Given the description of an element on the screen output the (x, y) to click on. 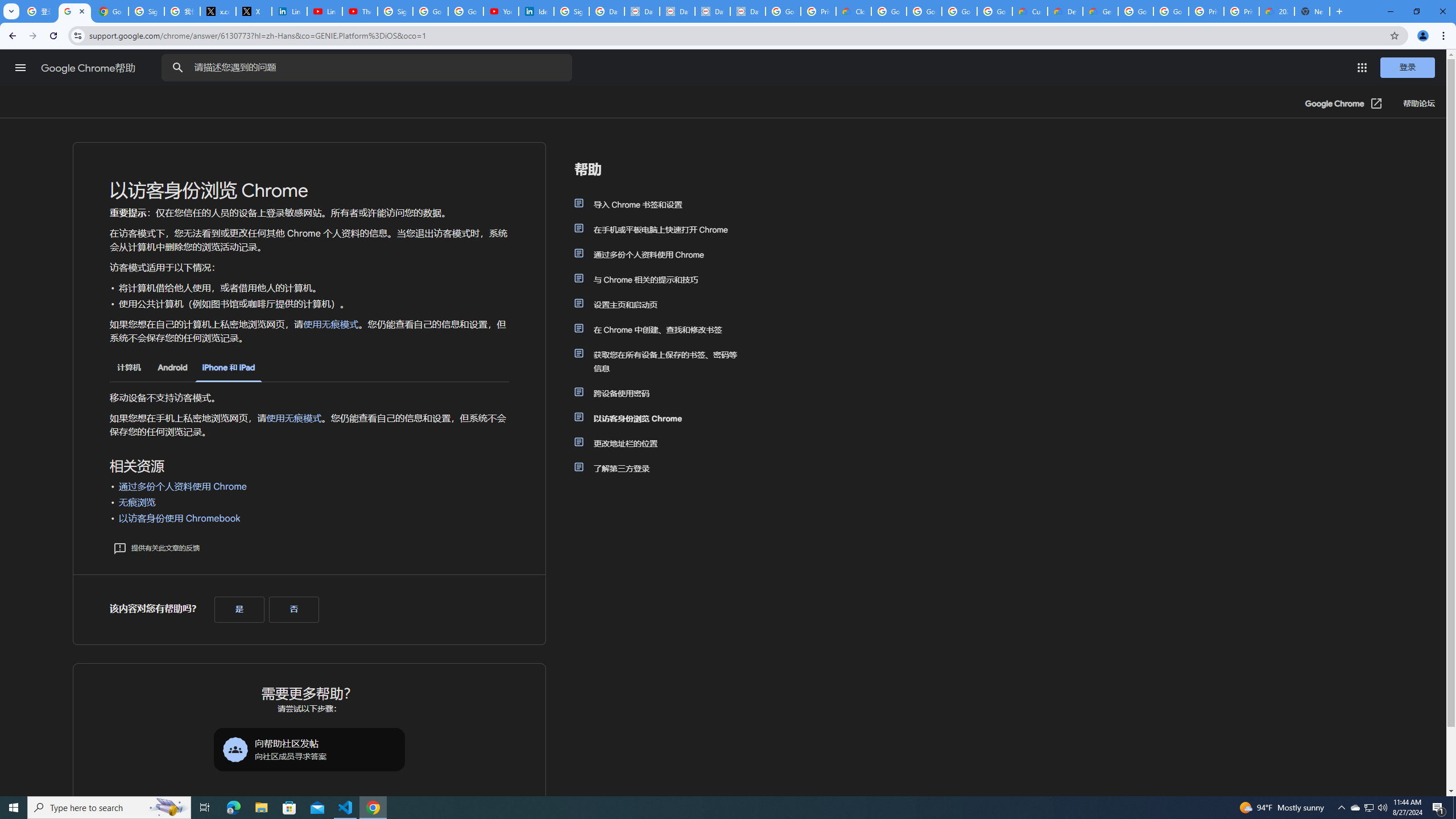
Google Cloud Platform (1170, 11)
Gemini for Business and Developers | Google Cloud (1099, 11)
Data Privacy Framework (677, 11)
Google Workspace - Specific Terms (959, 11)
New Tab (1312, 11)
Data Privacy Framework (747, 11)
